Given the description of an element on the screen output the (x, y) to click on. 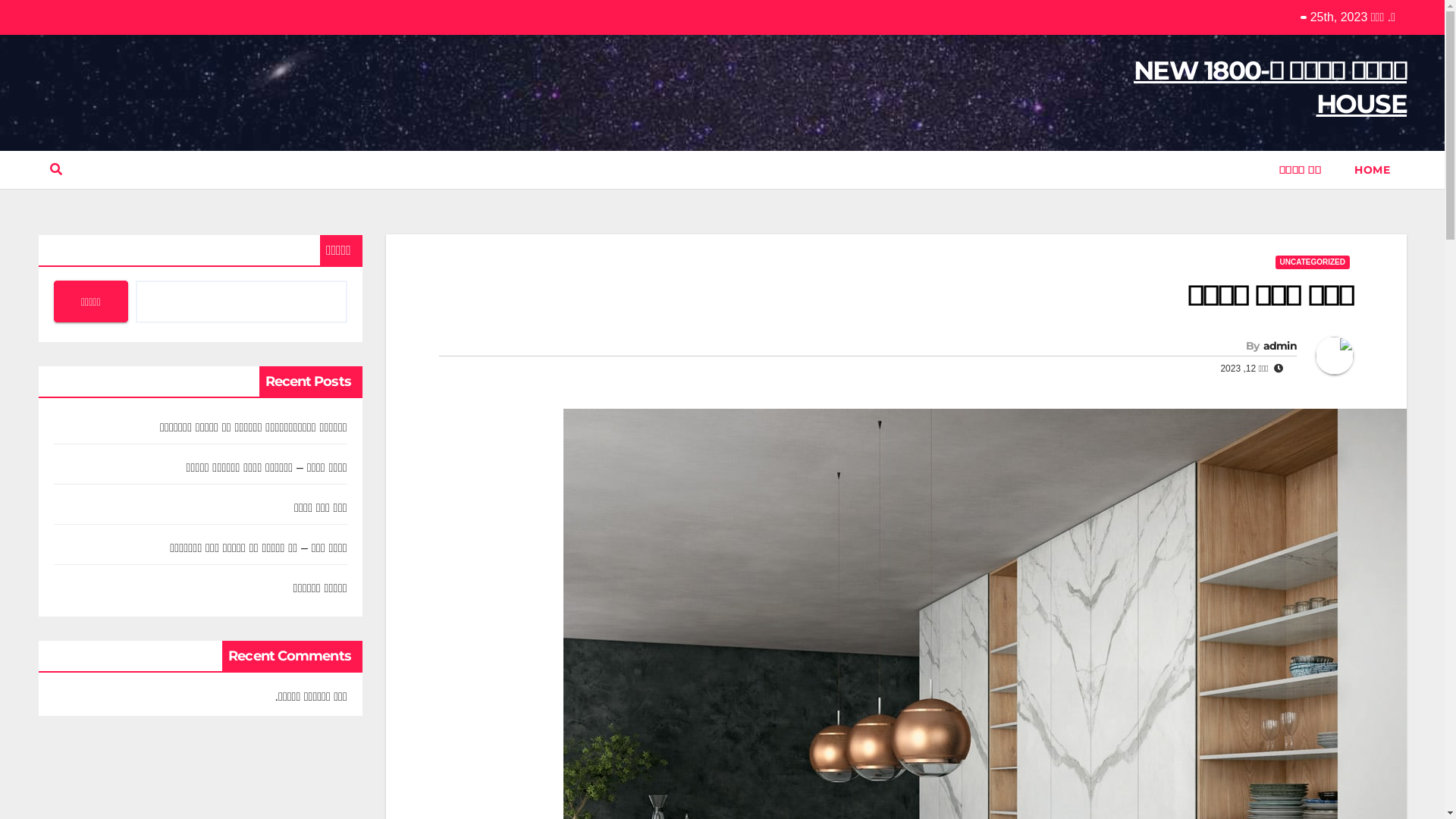
HOME Element type: text (1371, 169)
UNCATEGORIZED Element type: text (1312, 262)
admin Element type: text (1280, 345)
